Given the description of an element on the screen output the (x, y) to click on. 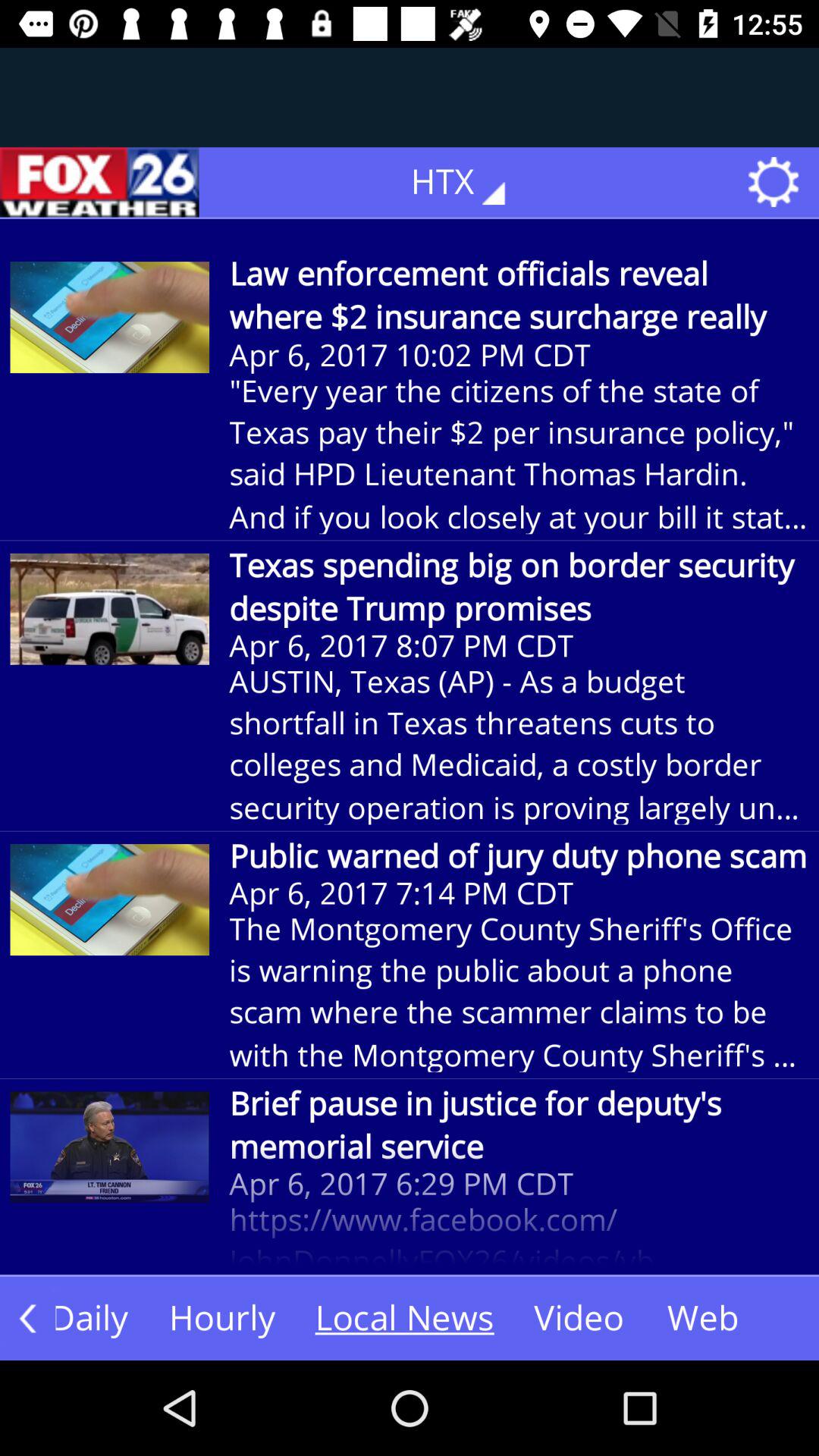
scroll until htx item (468, 182)
